Given the description of an element on the screen output the (x, y) to click on. 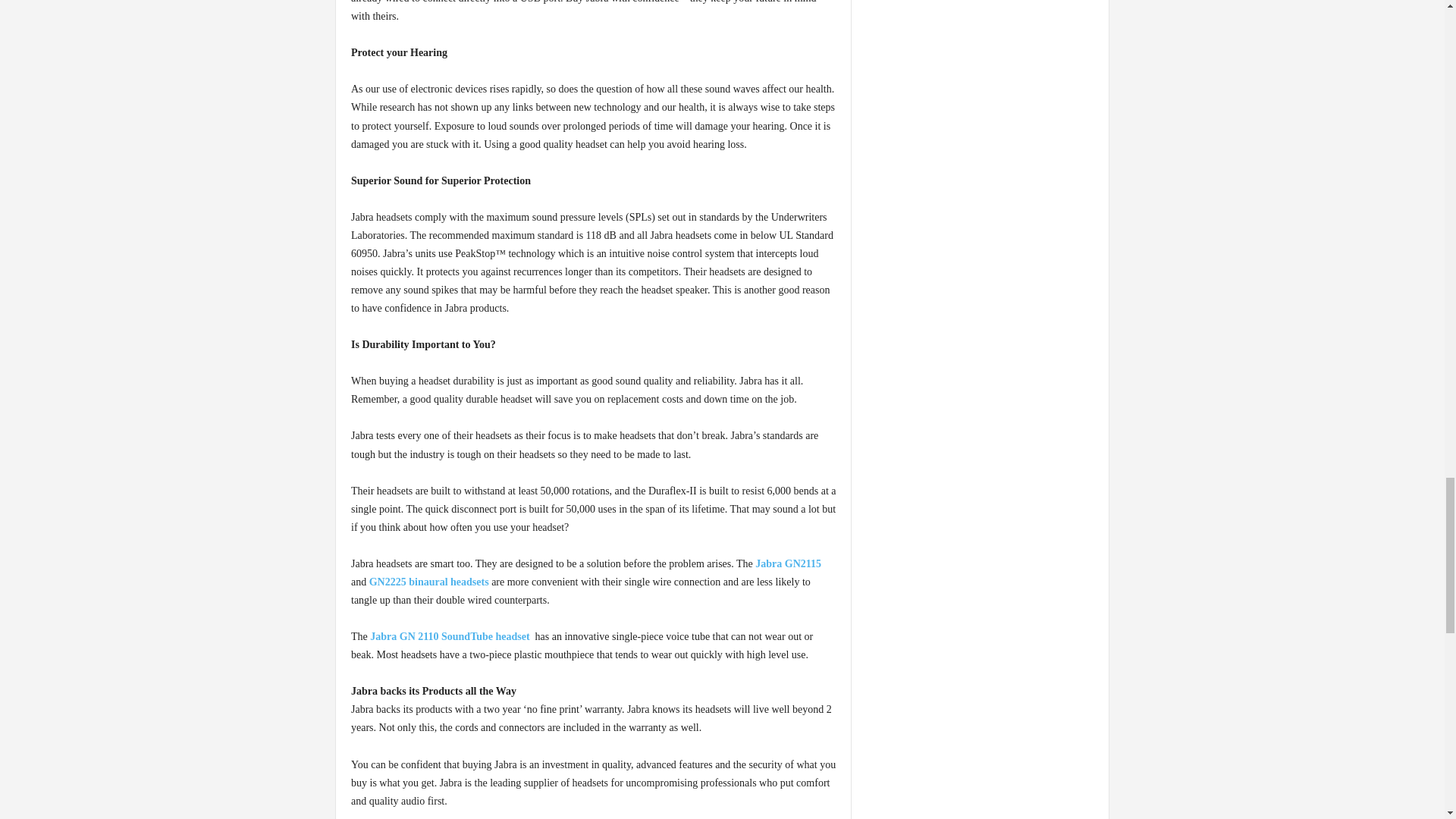
GN 2110 SoundTube headset (462, 636)
Jabra GN2115 (788, 563)
GN2225 binaural headsets (429, 582)
Jabra (382, 636)
